Given the description of an element on the screen output the (x, y) to click on. 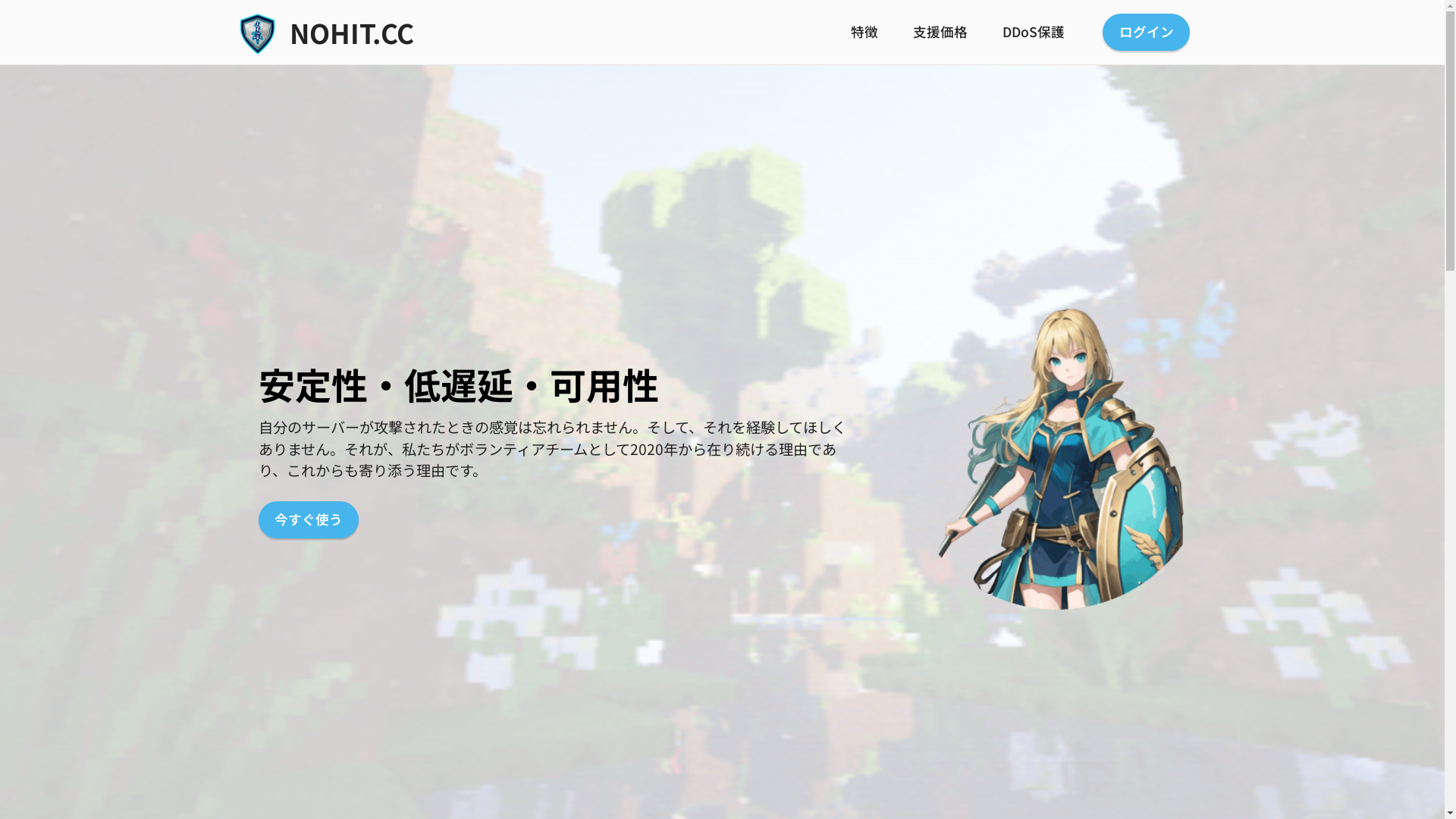
NOHIT.CC Element type: text (375, 31)
